Given the description of an element on the screen output the (x, y) to click on. 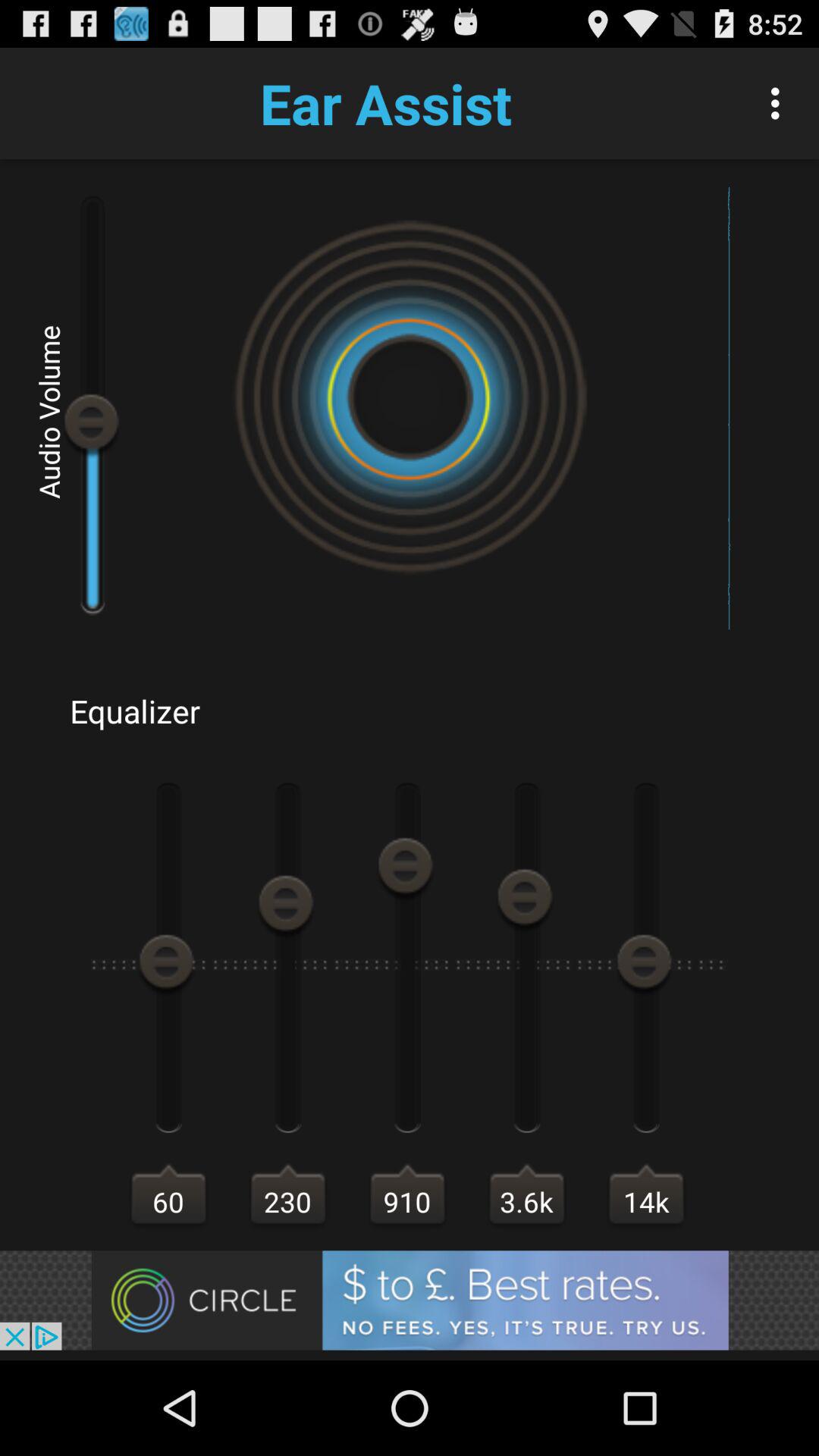
click on the symbol at the center of the page (409, 397)
click on the symbol at the center of the page (409, 397)
click on the symbol at the center of the page (409, 397)
